Given the description of an element on the screen output the (x, y) to click on. 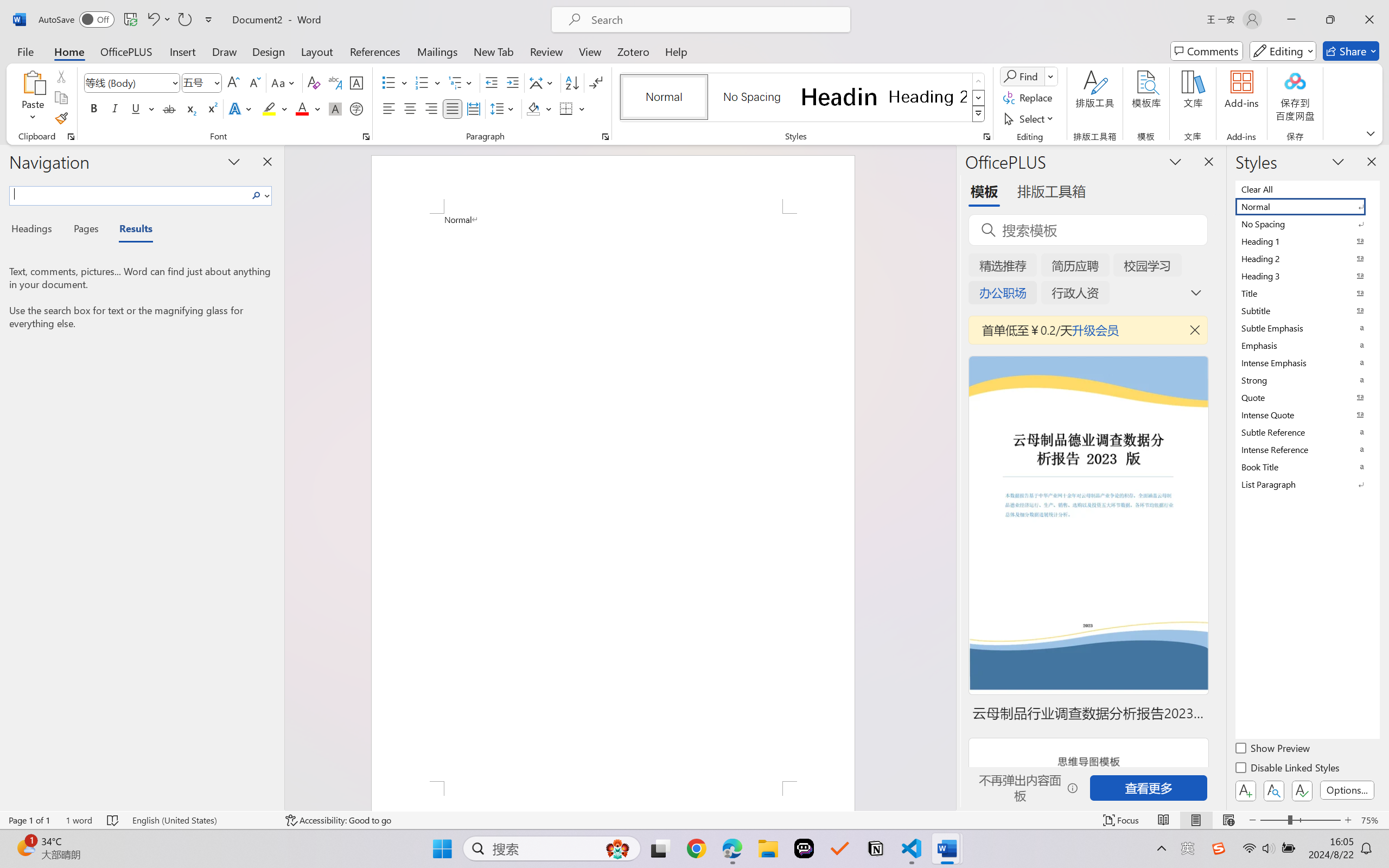
More Options (1051, 75)
Search (259, 195)
Bullets (388, 82)
Borders (571, 108)
Repeat Doc Close (184, 19)
Focus  (1121, 819)
Font Size (201, 82)
Save (130, 19)
Styles... (986, 136)
Results (130, 229)
Class: Image (1218, 847)
Search document (128, 193)
Select (1030, 118)
Subscript (190, 108)
